Given the description of an element on the screen output the (x, y) to click on. 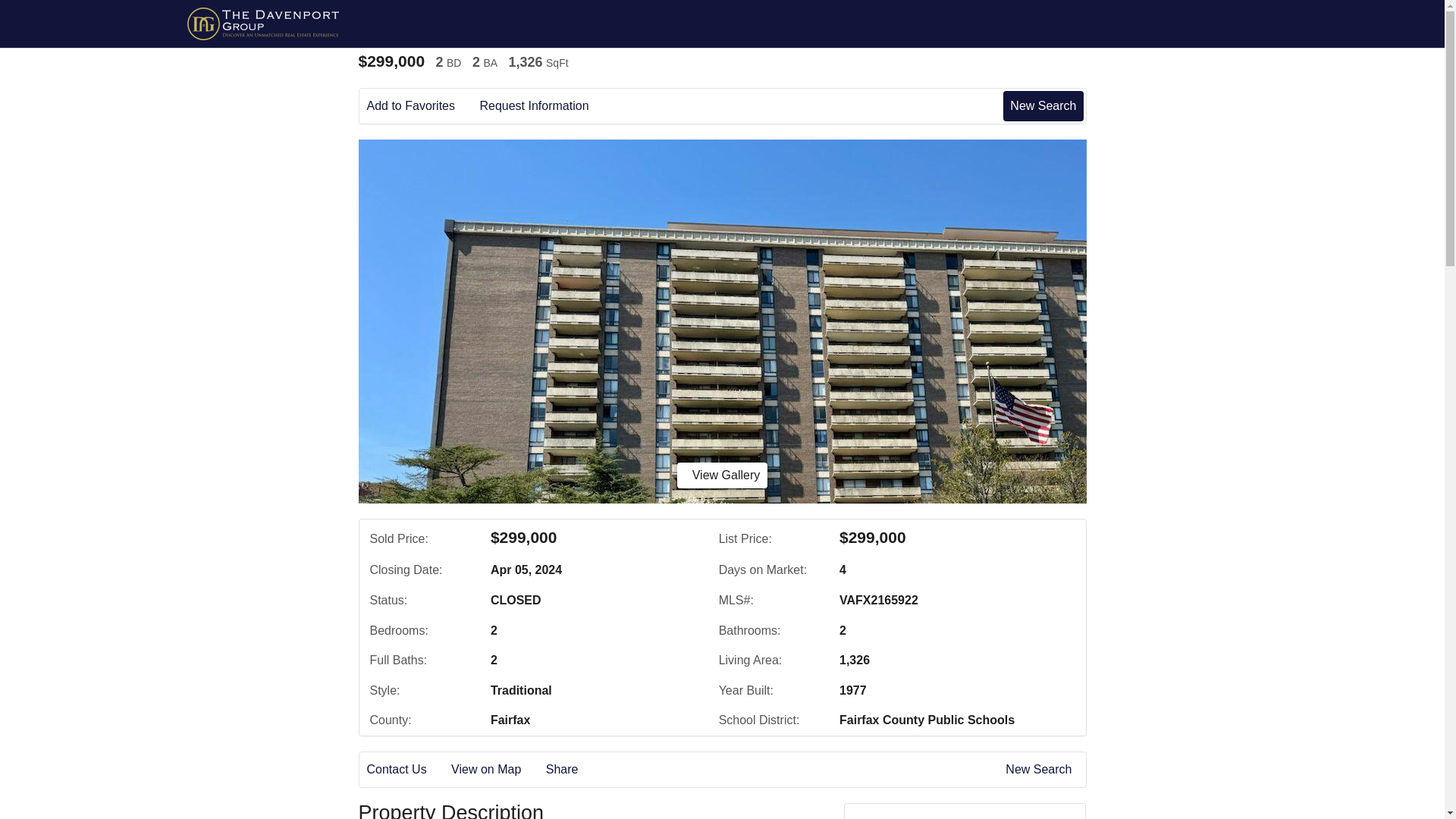
Request Information (544, 106)
Share (572, 769)
View on Map (496, 769)
Add to Favorites (421, 106)
New Search (1041, 769)
Contact Us (407, 769)
New Search (1043, 105)
View Gallery (722, 474)
View Gallery (722, 475)
